Given the description of an element on the screen output the (x, y) to click on. 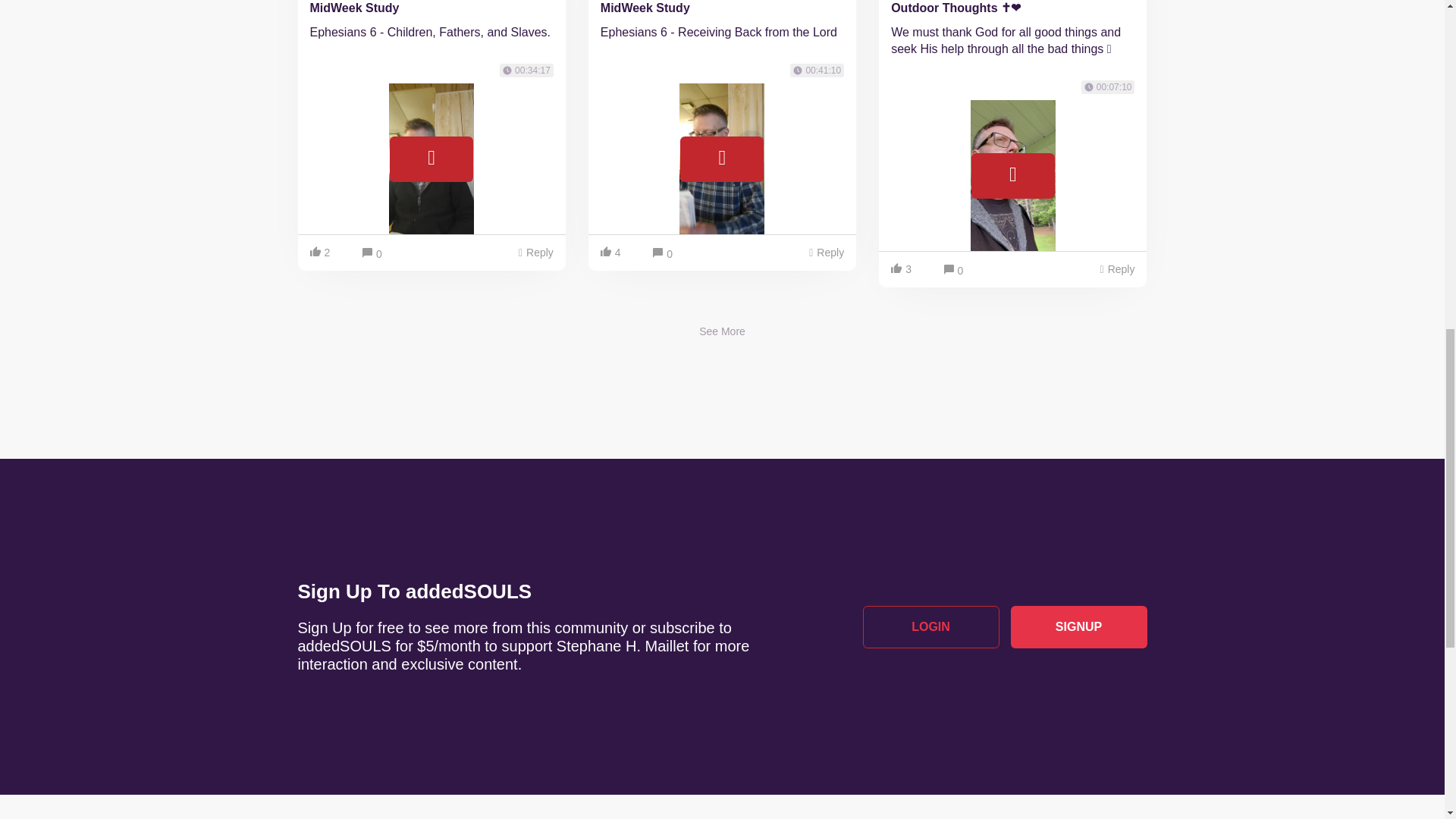
Reply (826, 253)
Reply (536, 253)
0 (662, 253)
2 (321, 253)
4 (612, 253)
3 (903, 269)
0 (372, 253)
0 (953, 271)
